Given the description of an element on the screen output the (x, y) to click on. 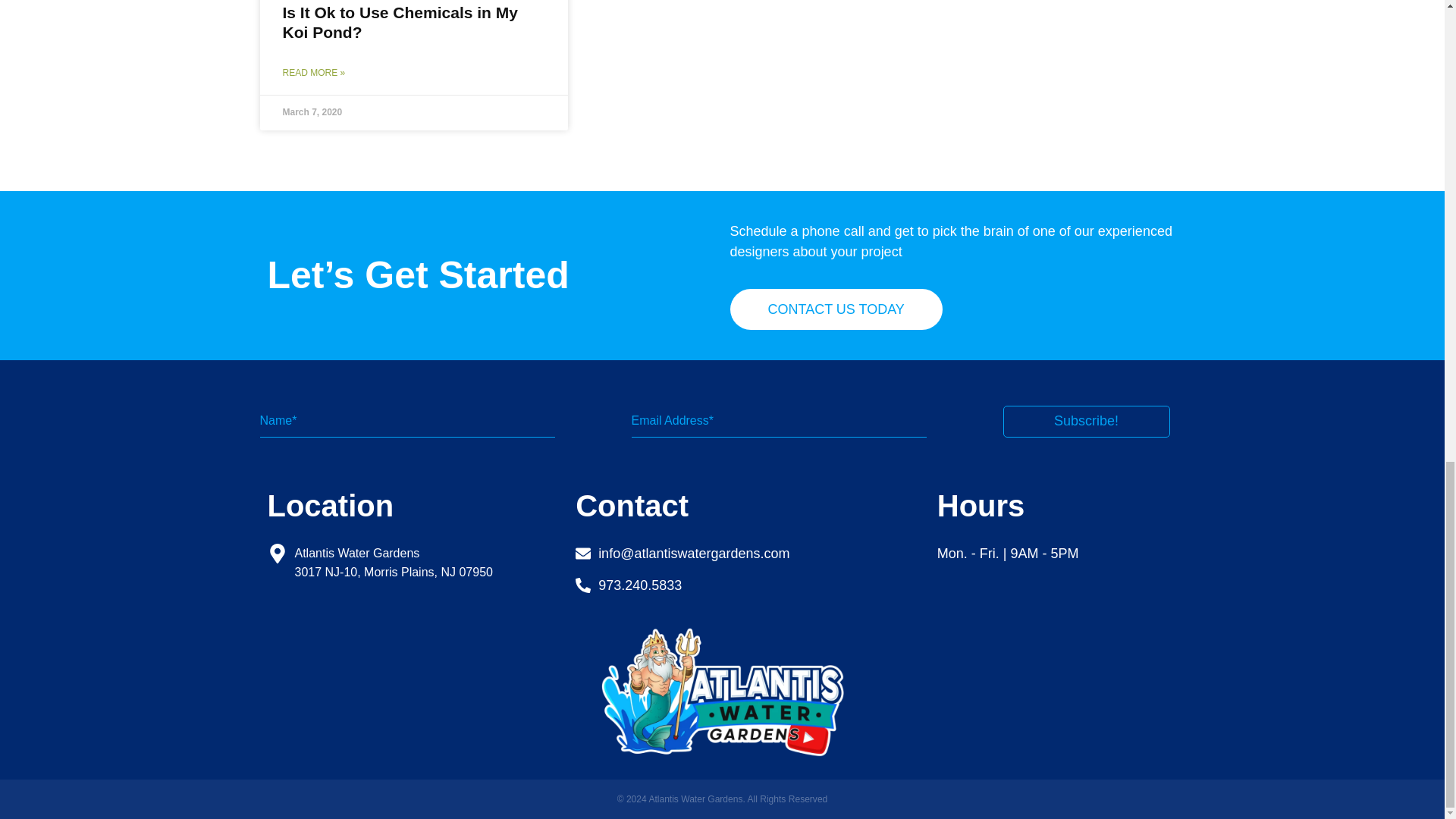
Subscribe! (1086, 421)
